Given the description of an element on the screen output the (x, y) to click on. 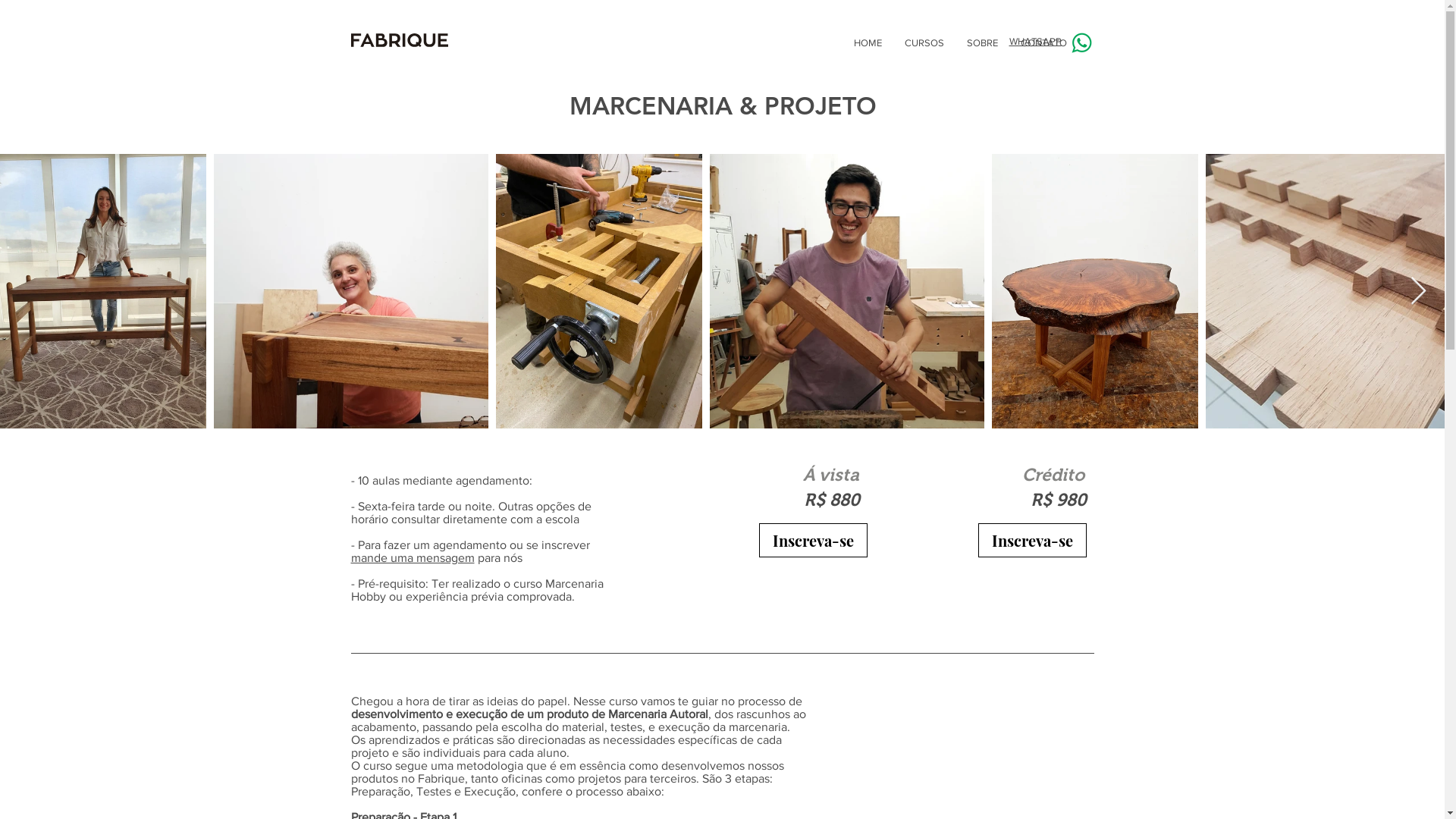
CURSOS Element type: text (924, 43)
HOME Element type: text (867, 43)
WHATSAPP Element type: text (1034, 41)
Inscreva-se Element type: text (812, 540)
mande uma mensagem Element type: text (411, 557)
Inscreva-se Element type: text (1032, 540)
CONTATO Element type: text (1043, 43)
SOBRE Element type: text (982, 43)
